Given the description of an element on the screen output the (x, y) to click on. 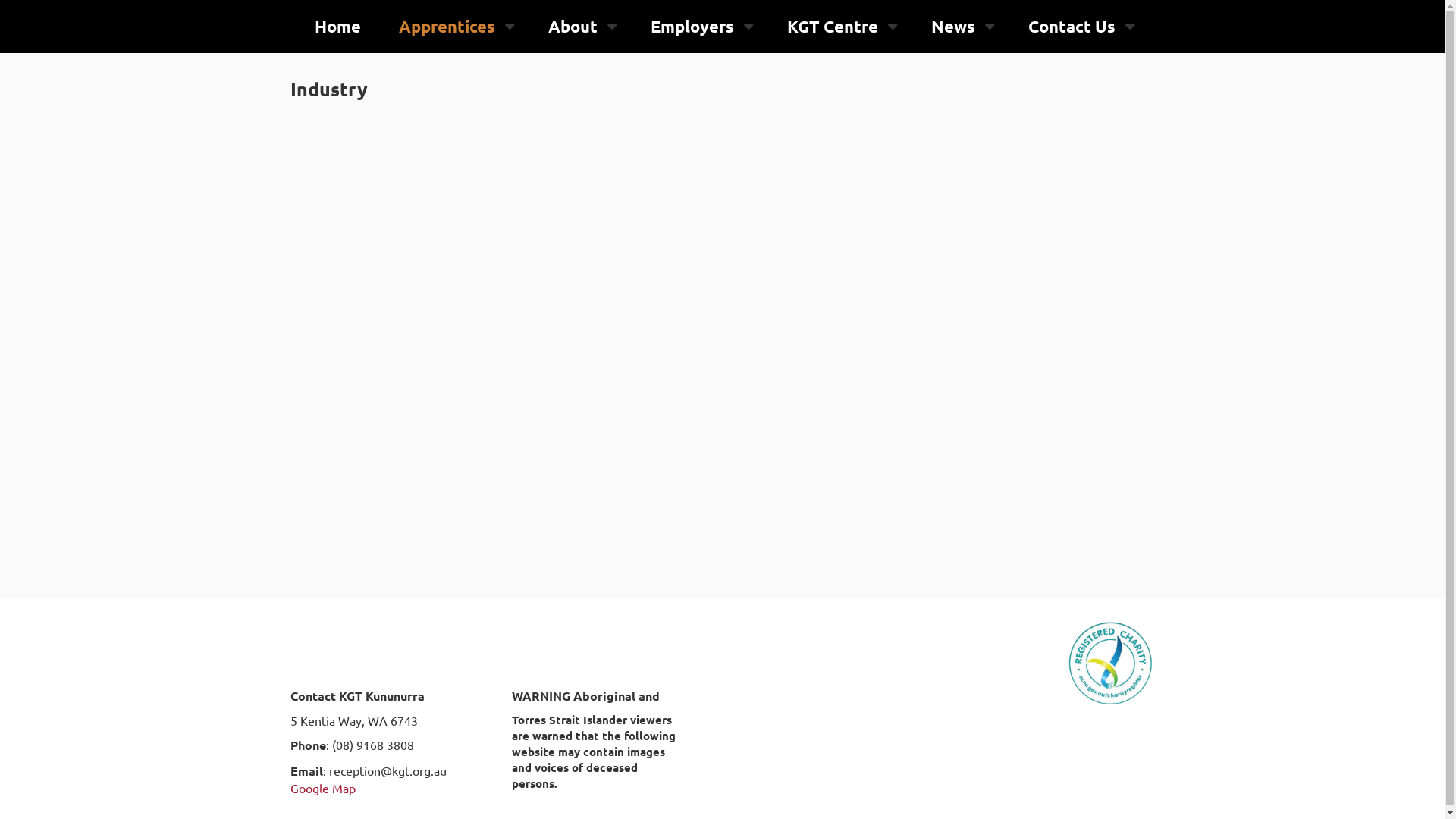
KGT Centre Element type: text (832, 26)
fb:like Facebook Social Plugin Element type: hover (1001, 658)
About Element type: text (571, 26)
Google Map Element type: text (321, 787)
Employers Element type: text (692, 26)
Contact Us Element type: text (1071, 26)
Home Element type: text (336, 26)
Apprentices Element type: text (446, 26)
News Element type: text (953, 26)
